Given the description of an element on the screen output the (x, y) to click on. 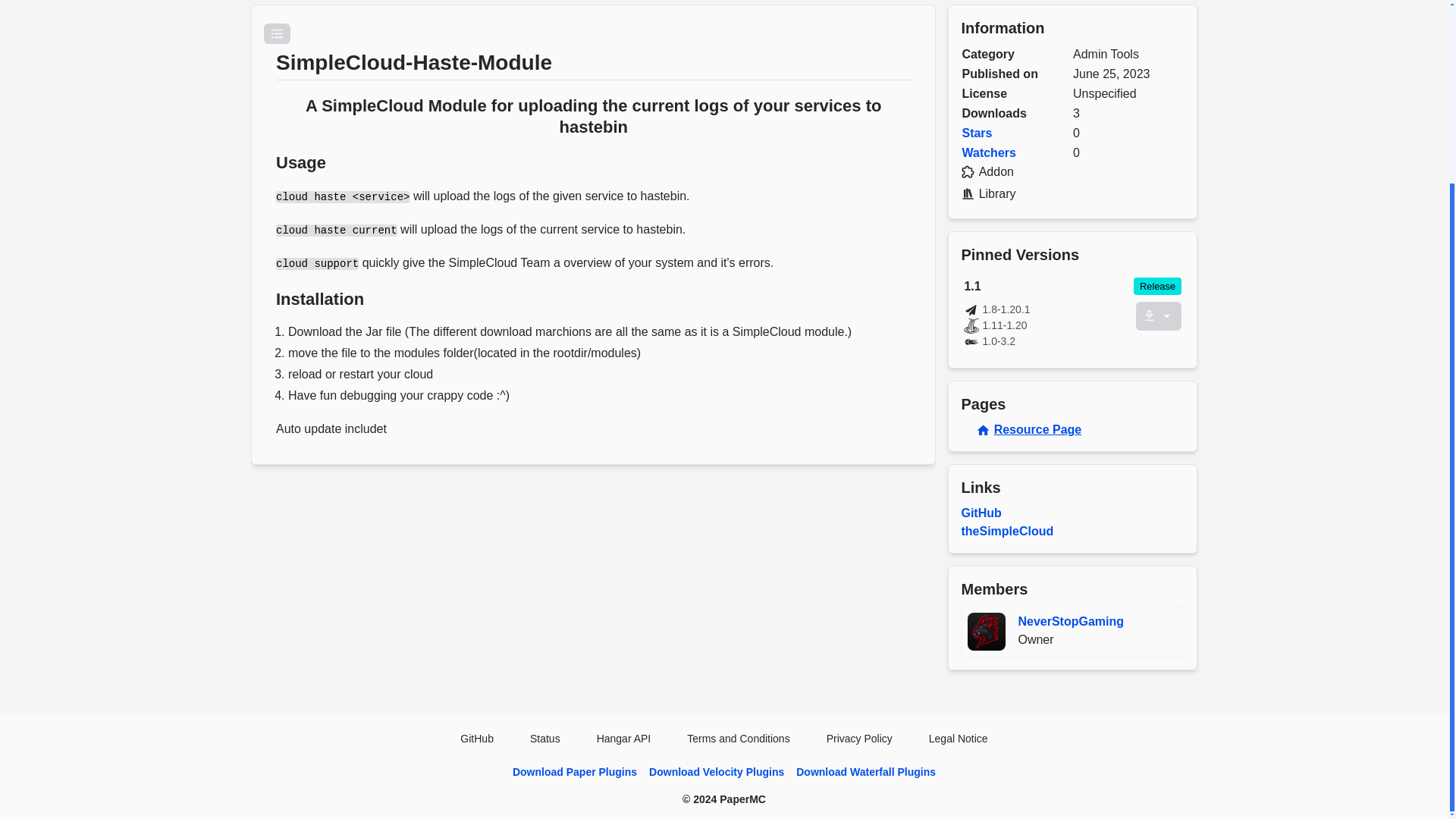
Watchers (987, 152)
1.1 (1047, 286)
Stars (975, 132)
NeverStopGaming (1047, 323)
The default channel (987, 631)
Resource Page (1157, 285)
